Given the description of an element on the screen output the (x, y) to click on. 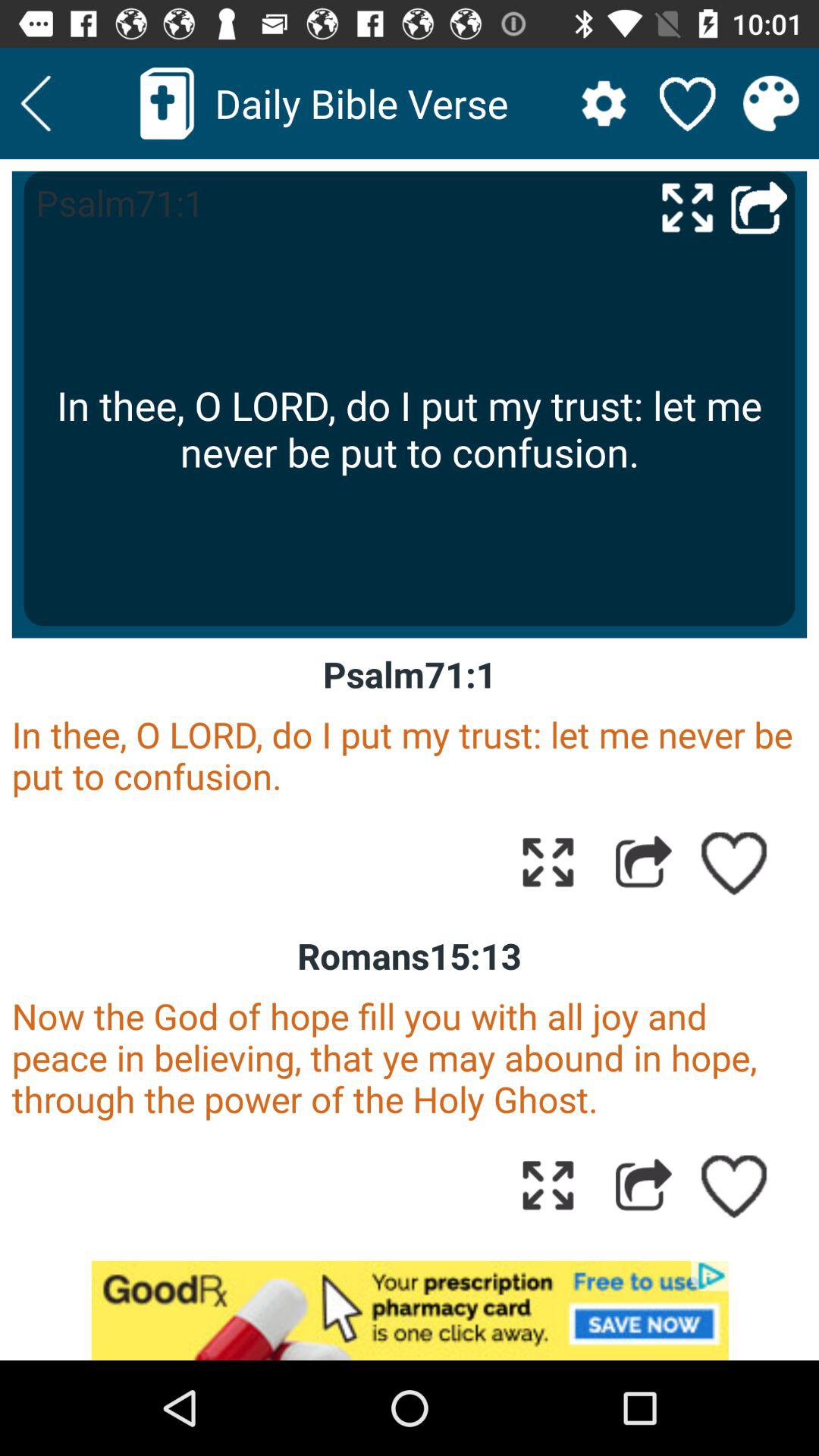
advertisement (409, 1310)
